Given the description of an element on the screen output the (x, y) to click on. 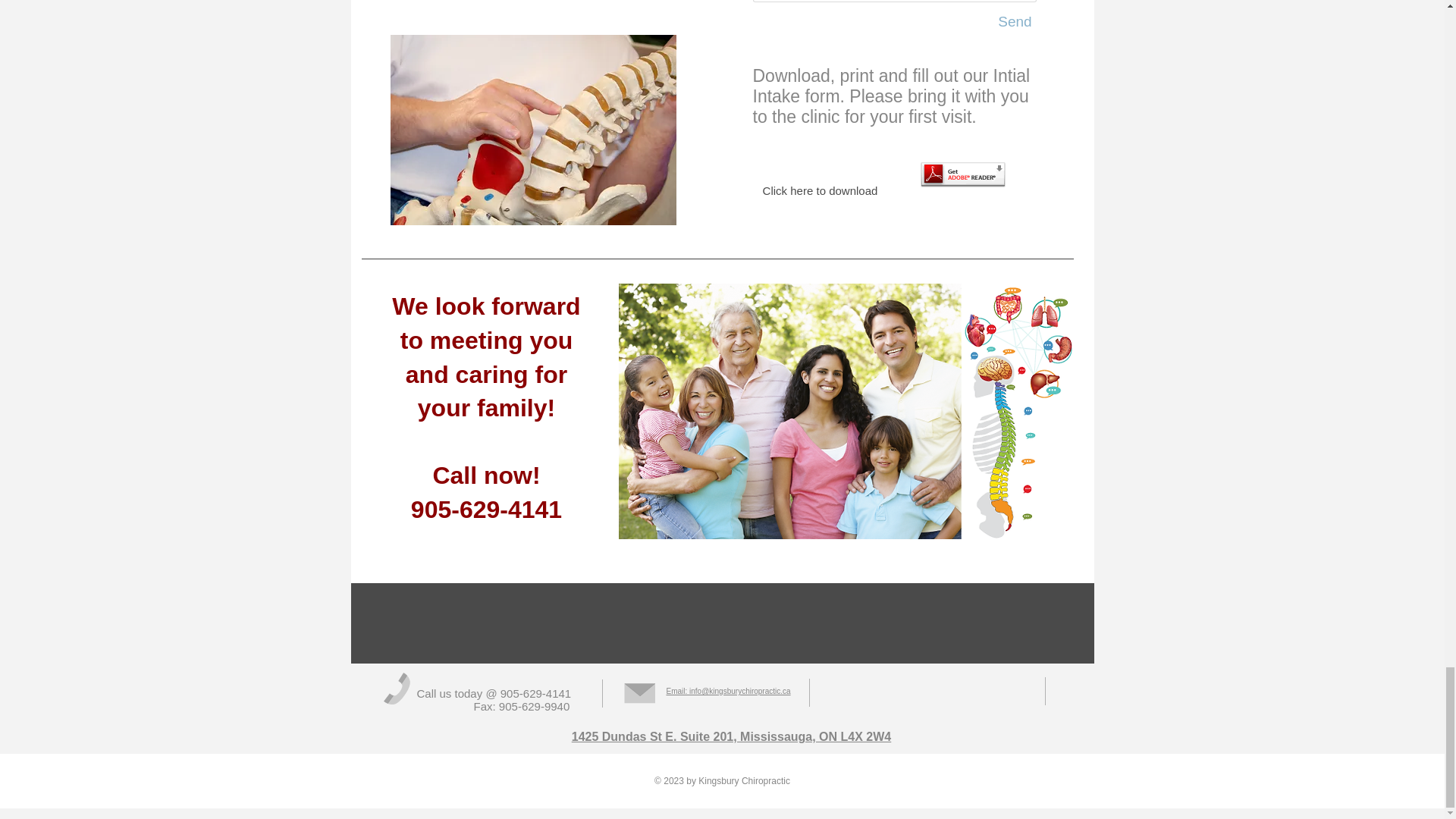
Click here to download (819, 179)
Send (1013, 22)
1425 Dundas St E. Suite 201, Mississauga, ON L4X 2W4 (731, 736)
Click here to download (819, 179)
